Given the description of an element on the screen output the (x, y) to click on. 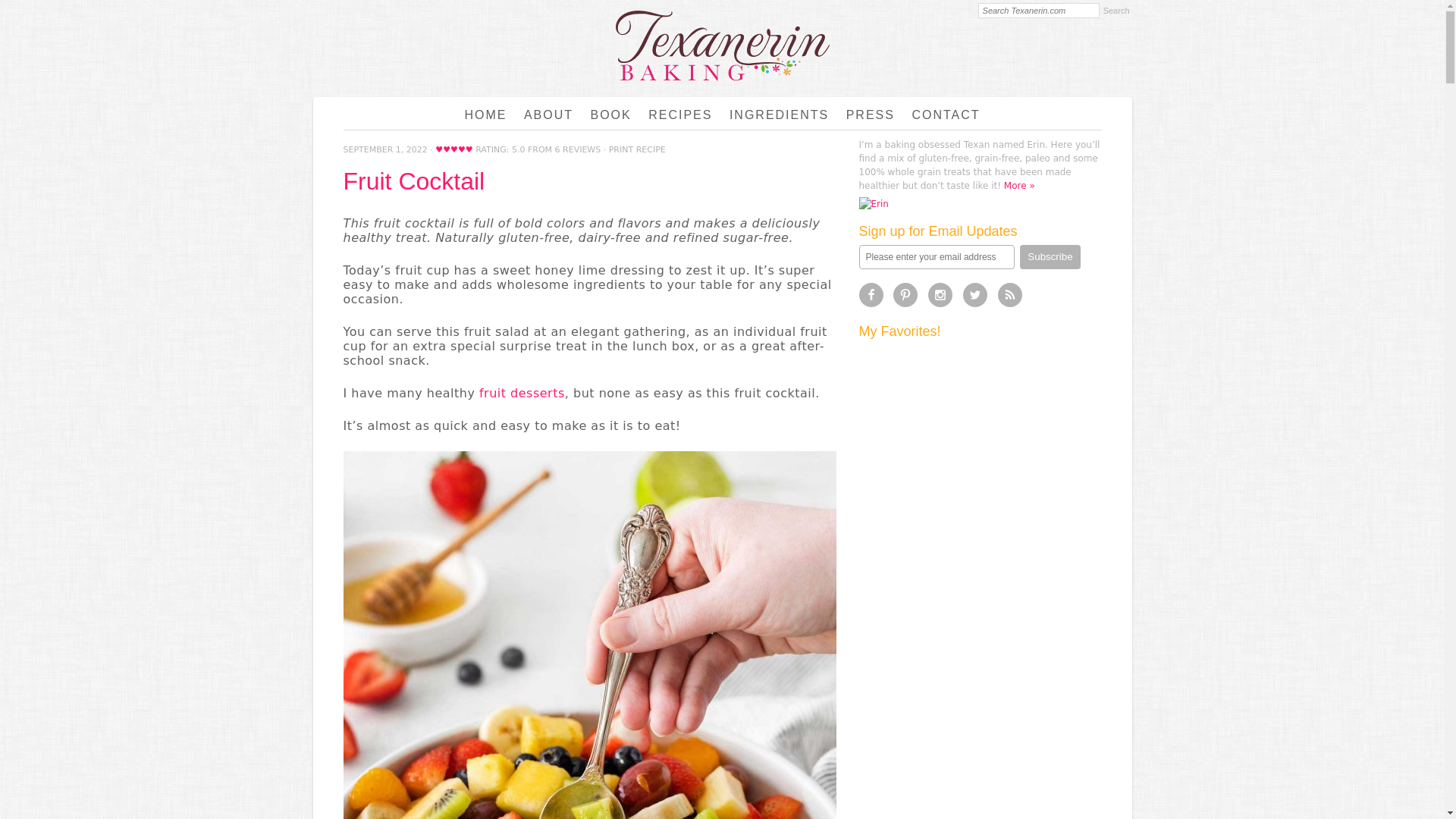
Search (1116, 10)
Learn more about Erin (1019, 185)
PRINT RECIPE (636, 149)
Search (1116, 10)
Like me on Facebook! (870, 294)
BOOK (611, 115)
HOME (485, 115)
Learn more about Erin (873, 203)
INGREDIENTS (778, 115)
